Given the description of an element on the screen output the (x, y) to click on. 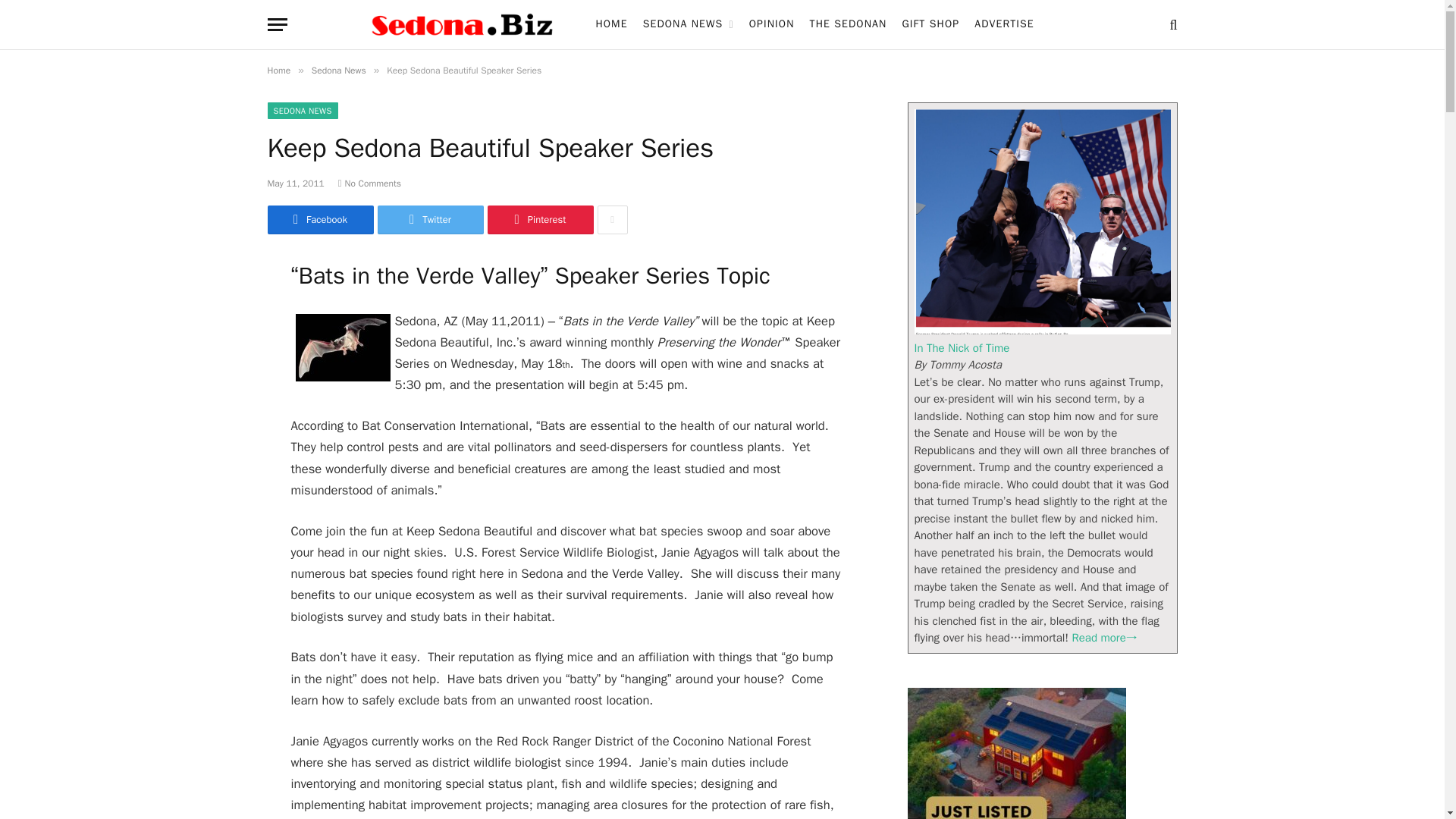
Search (1171, 24)
SEDONA NEWS (301, 110)
Twitter (430, 219)
Sedona News (338, 70)
Facebook (319, 219)
No Comments (369, 183)
GIFT SHOP (929, 24)
OPINION (771, 24)
Share on Twitter (430, 219)
SEDONA NEWS (687, 24)
Share on Facebook (319, 219)
Home (277, 70)
Pinterest (539, 219)
Share on Pinterest (539, 219)
Show More Social Sharing (611, 219)
